Given the description of an element on the screen output the (x, y) to click on. 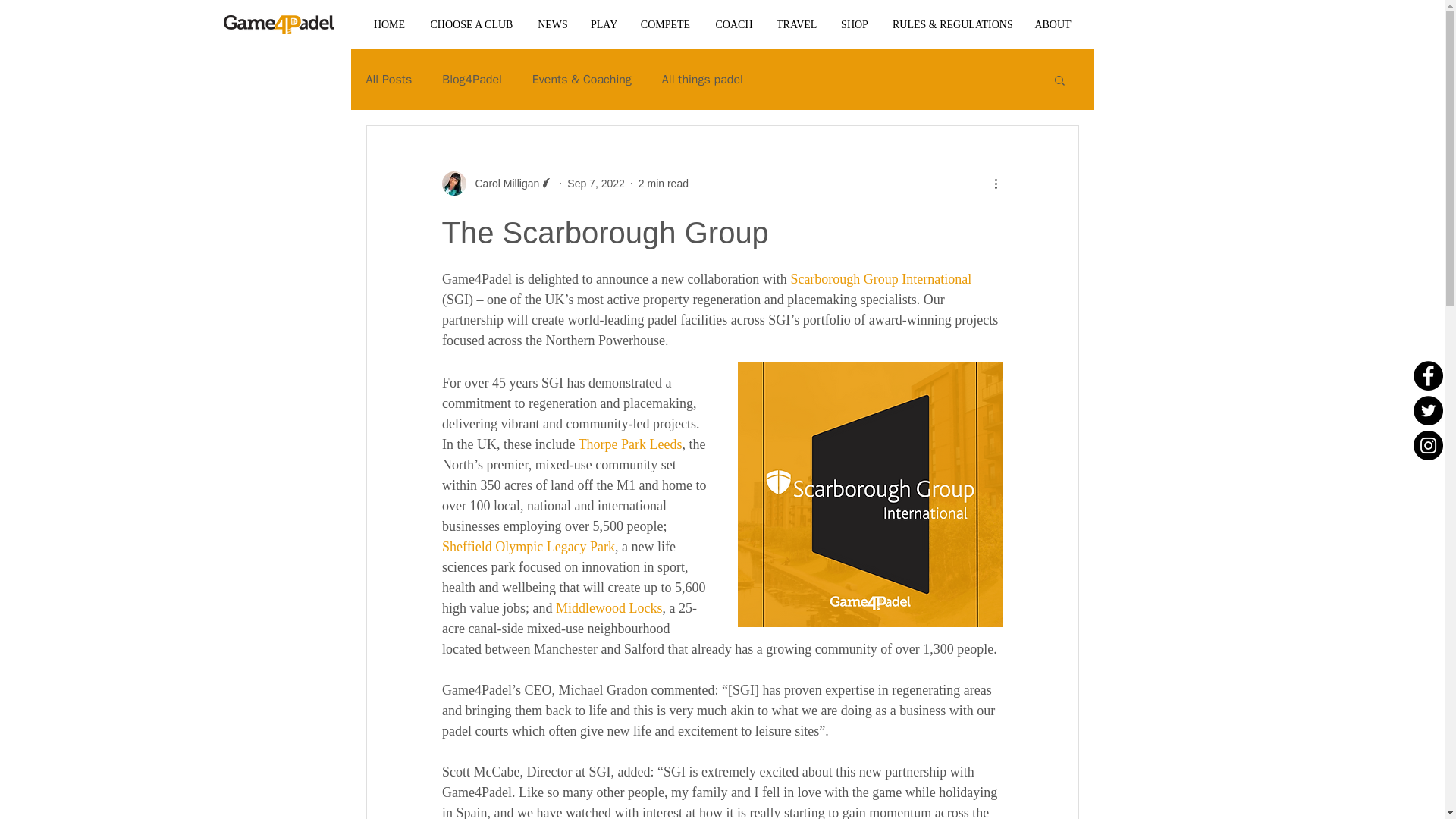
All Posts (388, 78)
Sheffield Olympic Legacy Park (527, 546)
HOME (388, 24)
2 min read (663, 183)
Carol Milligan (497, 183)
Thorpe Park Leeds (629, 444)
All things padel (702, 78)
CHOOSE A CLUB (470, 24)
Sep 7, 2022 (595, 183)
Carol Milligan (501, 183)
